Given the description of an element on the screen output the (x, y) to click on. 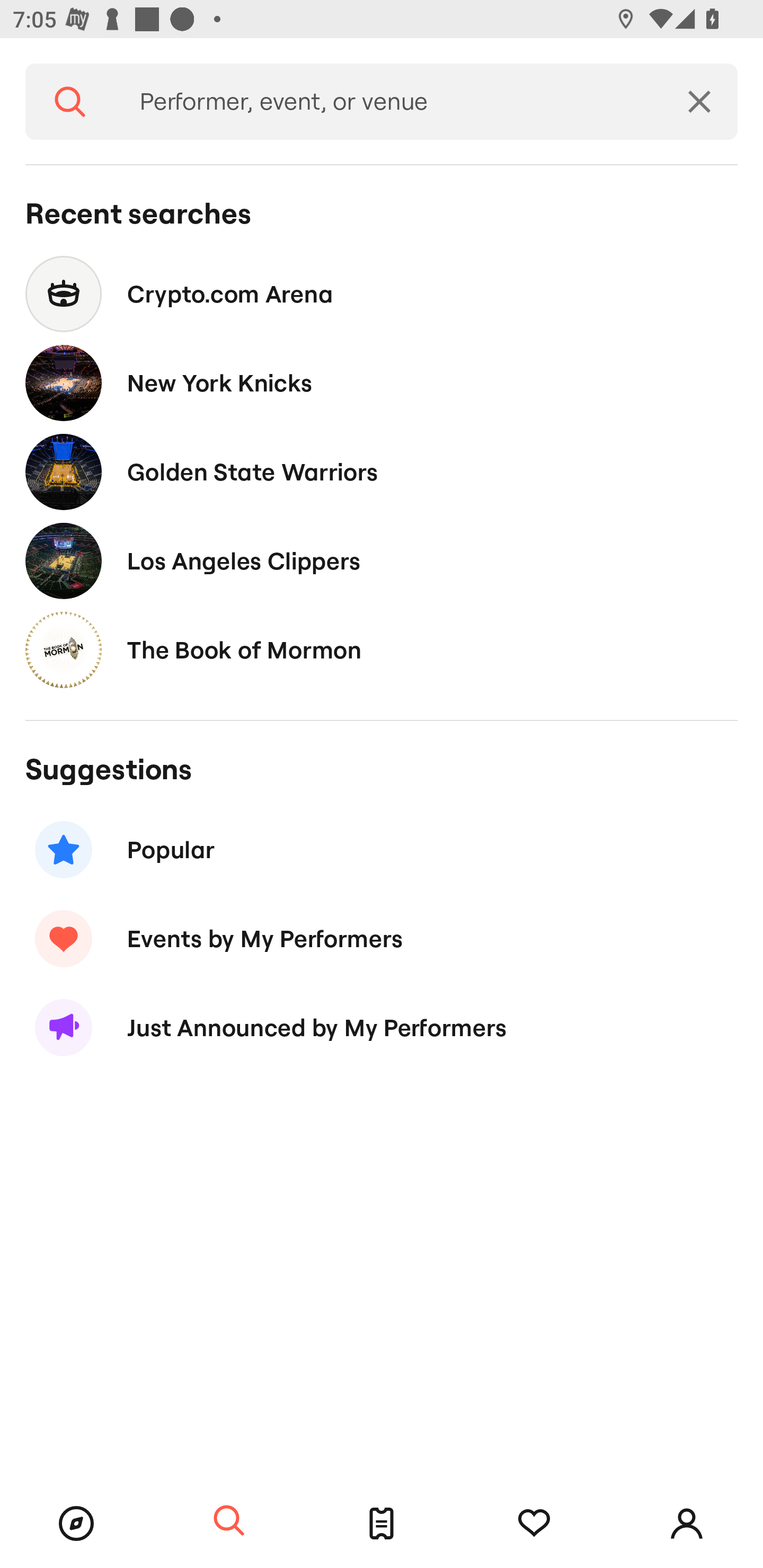
Search (69, 101)
Performer, event, or venue (387, 101)
Clear (699, 101)
Crypto.com Arena (381, 293)
New York Knicks (381, 383)
Golden State Warriors (381, 471)
Los Angeles Clippers (381, 560)
The Book of Mormon (381, 649)
Popular (381, 849)
Events by My Performers (381, 938)
Just Announced by My Performers (381, 1027)
Browse (76, 1523)
Search (228, 1521)
Tickets (381, 1523)
Tracking (533, 1523)
Account (686, 1523)
